Given the description of an element on the screen output the (x, y) to click on. 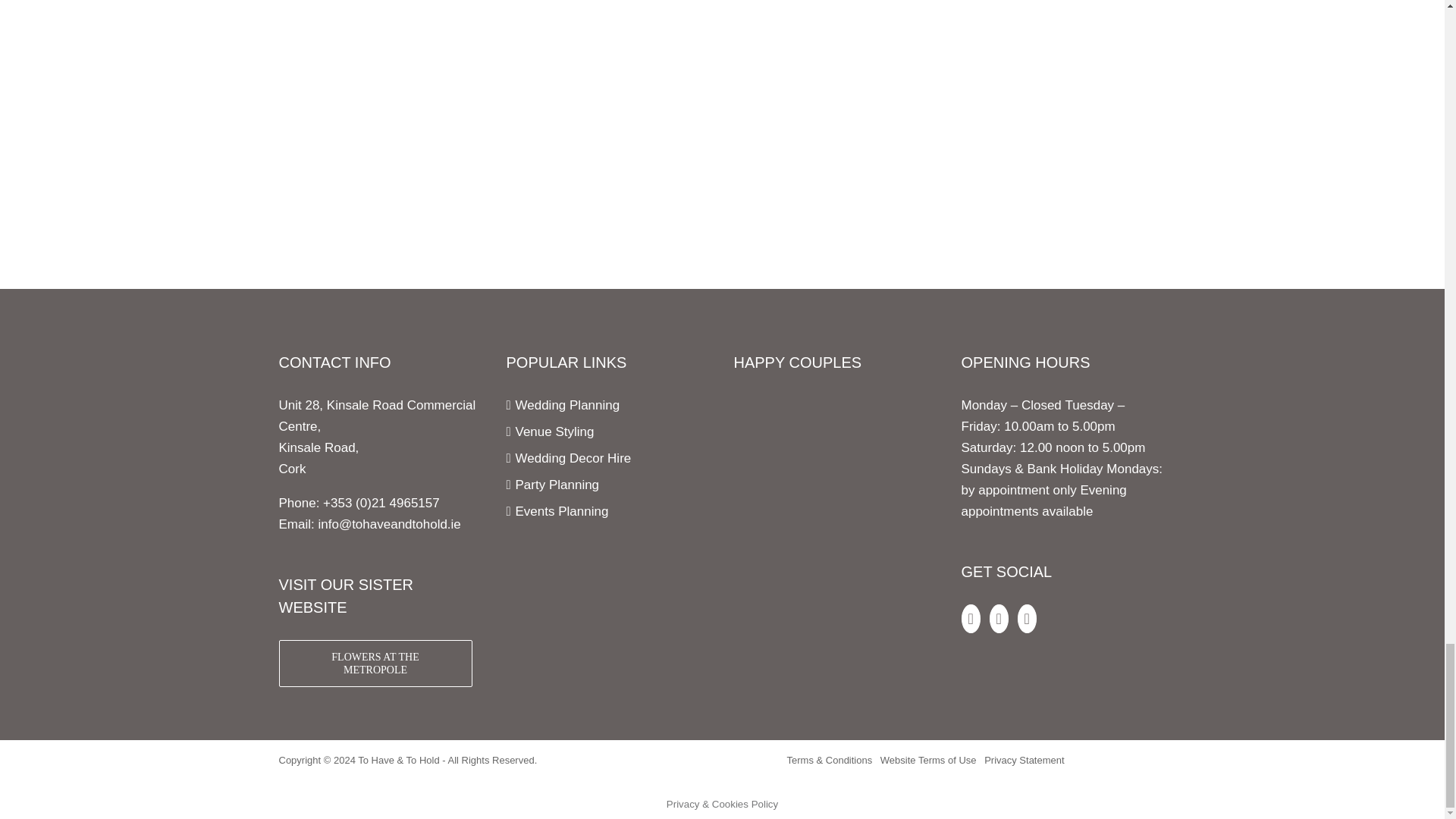
Happy Couples (831, 405)
